Given the description of an element on the screen output the (x, y) to click on. 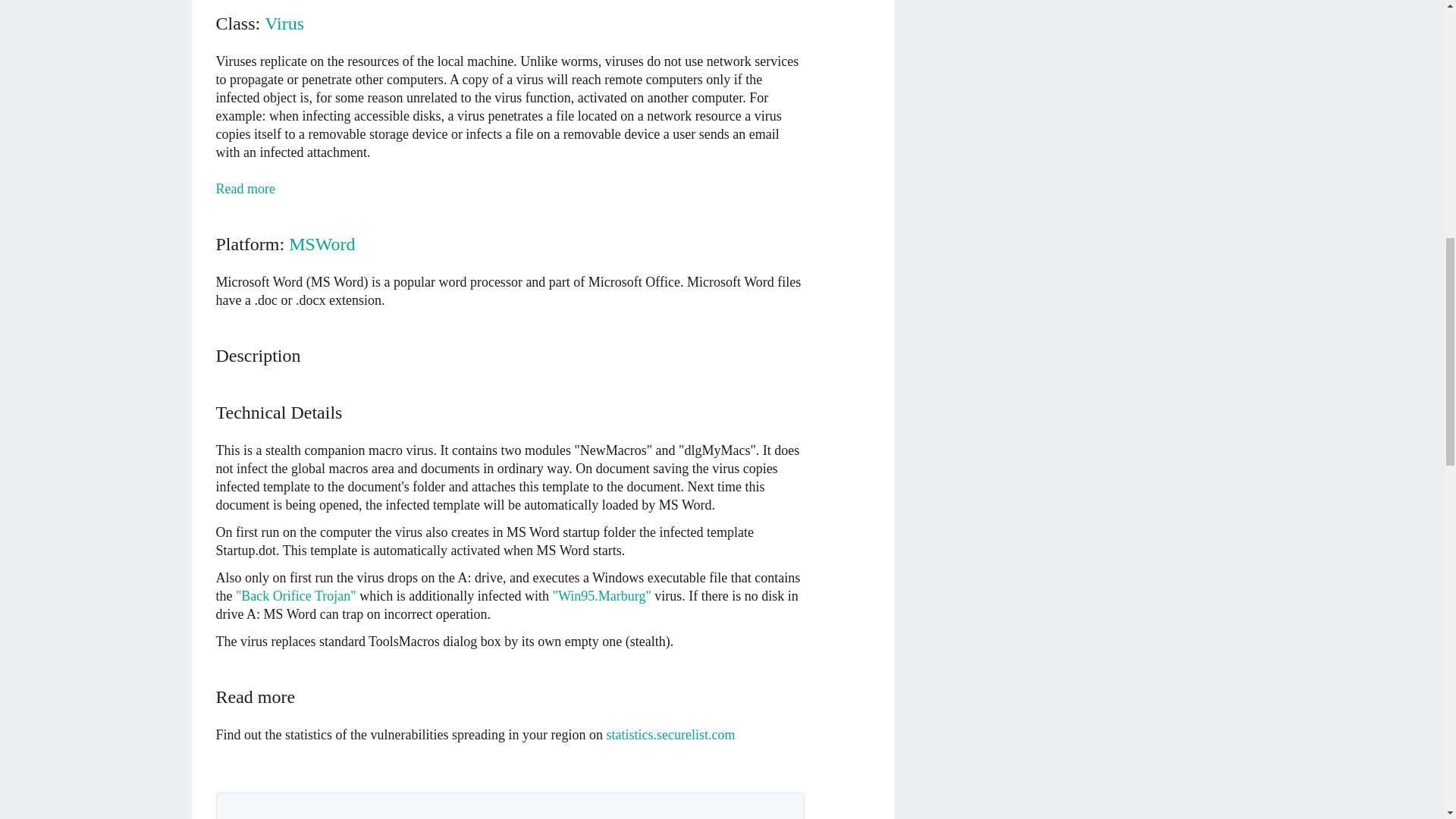
"Win95.Marburg" (601, 596)
MSWord (321, 244)
Read more (245, 188)
"Back Orifice Trojan" (295, 596)
statistics.securelist.com (670, 734)
Virus (284, 23)
